Given the description of an element on the screen output the (x, y) to click on. 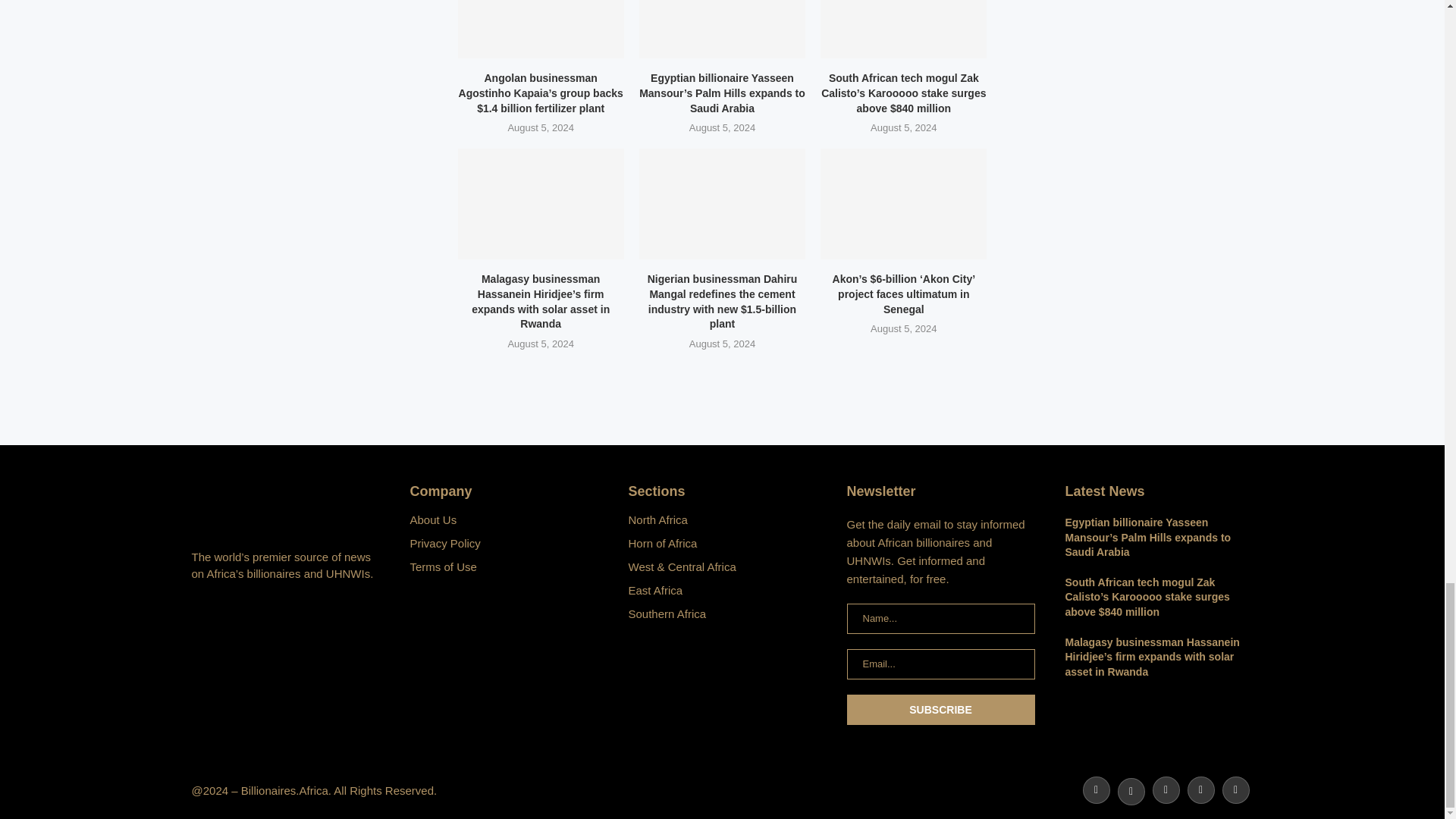
Subscribe (939, 709)
